Given the description of an element on the screen output the (x, y) to click on. 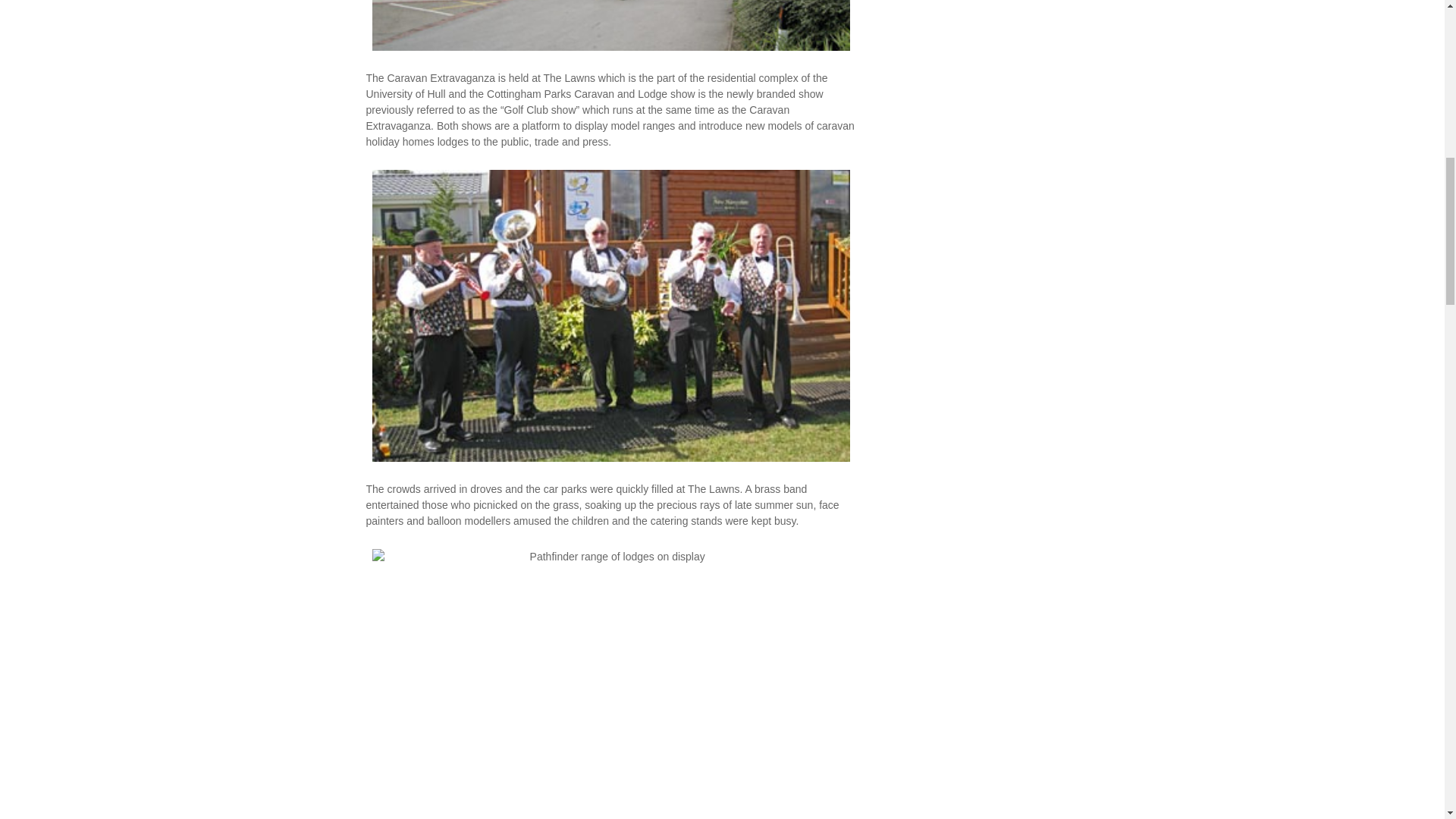
lawns-2010-review-pathfinder-range (610, 682)
lawns-2010-review-trade-days (610, 27)
